Given the description of an element on the screen output the (x, y) to click on. 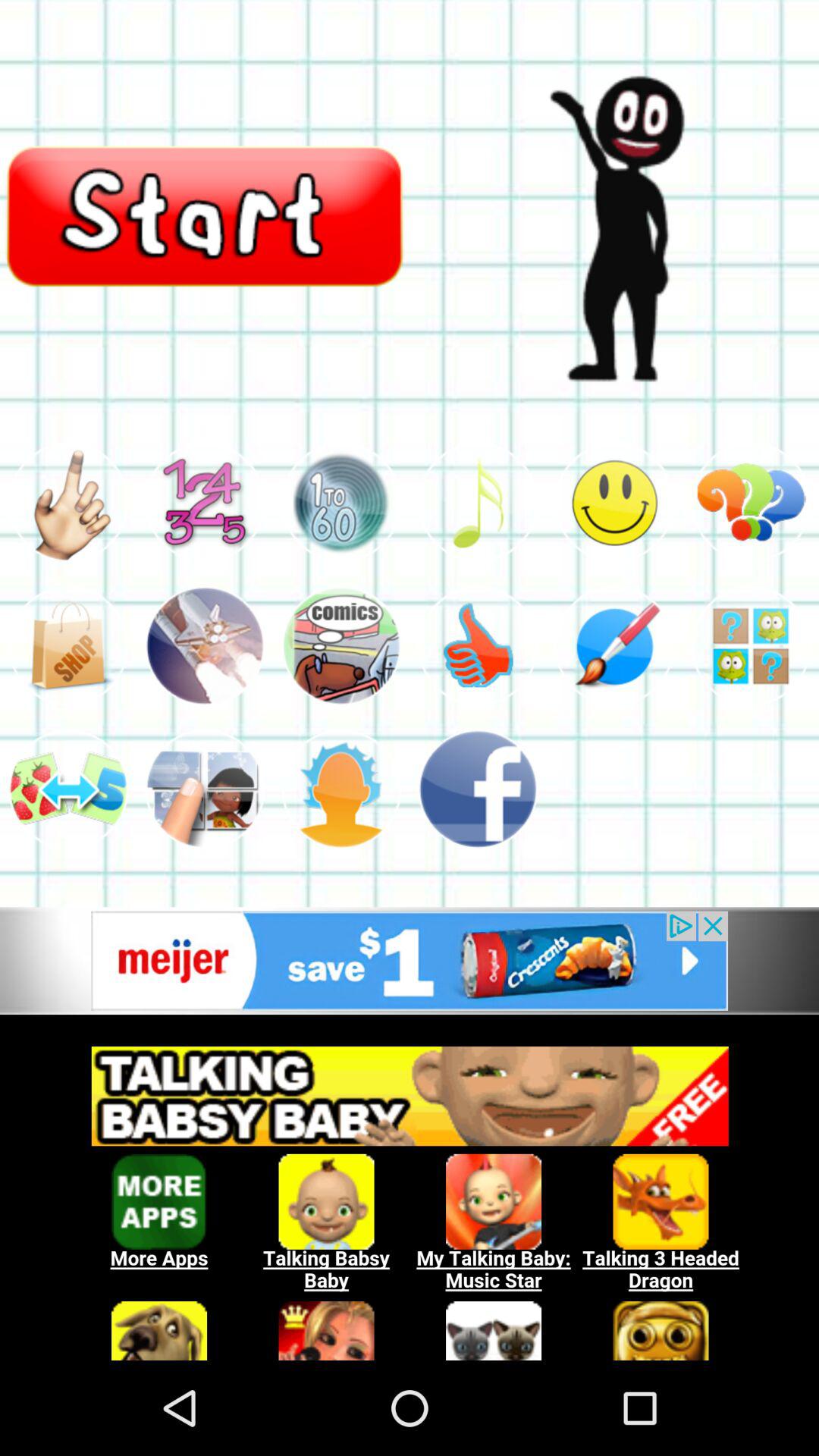
use paintbrush (614, 645)
